Given the description of an element on the screen output the (x, y) to click on. 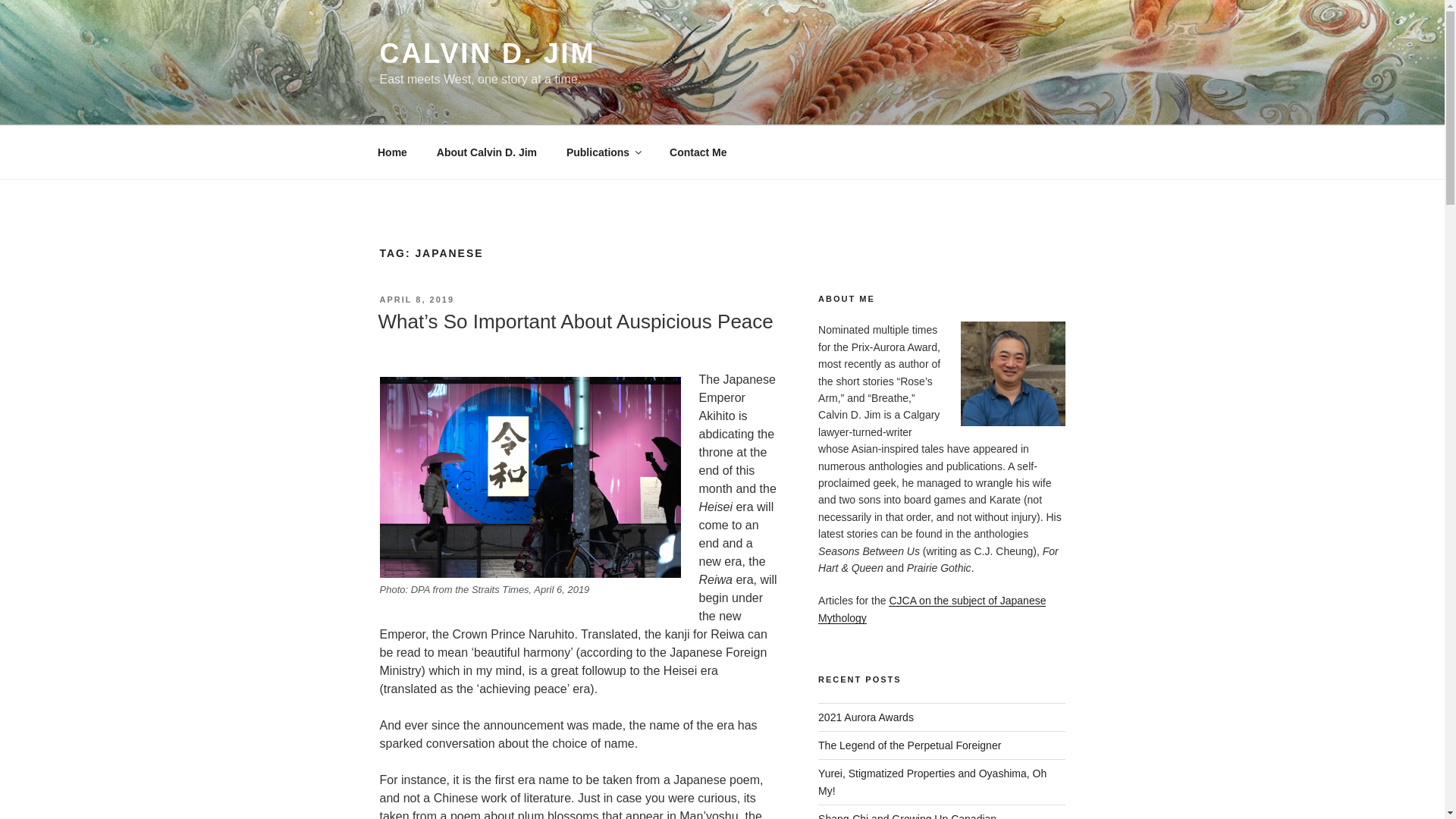
Home (392, 151)
APRIL 8, 2019 (416, 298)
Shang-Chi and Growing Up Canadian (906, 816)
Publications (602, 151)
The Legend of the Perpetual Foreigner (909, 745)
CJCA on the subject of Japanese Mythology (931, 608)
2021 Aurora Awards (866, 717)
CALVIN D. JIM (486, 52)
Contact Me (697, 151)
About Calvin D. Jim (486, 151)
Yurei, Stigmatized Properties and Oyashima, Oh My! (932, 781)
